Given the description of an element on the screen output the (x, y) to click on. 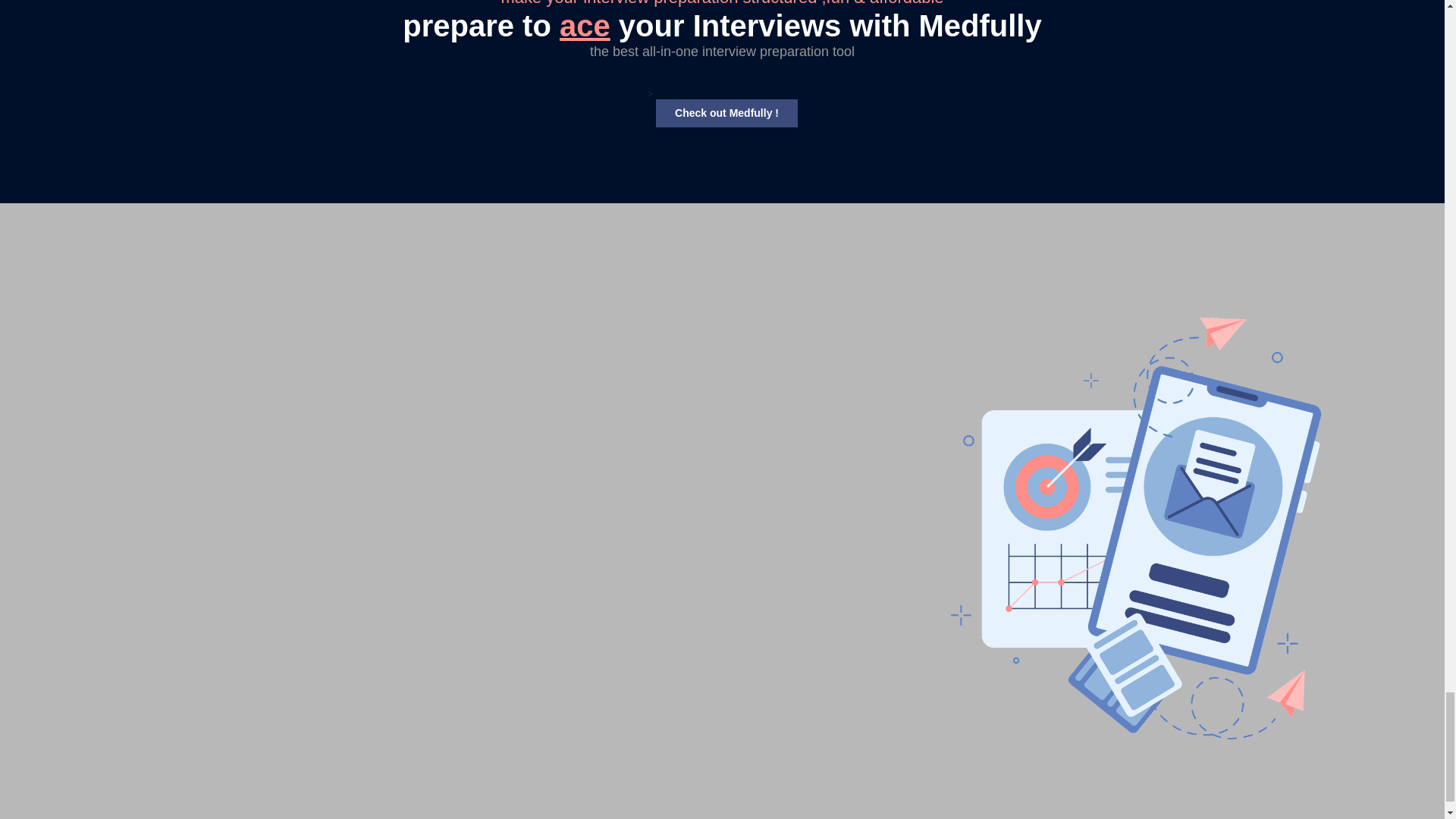
Check out Medfully ! (726, 113)
